Given the description of an element on the screen output the (x, y) to click on. 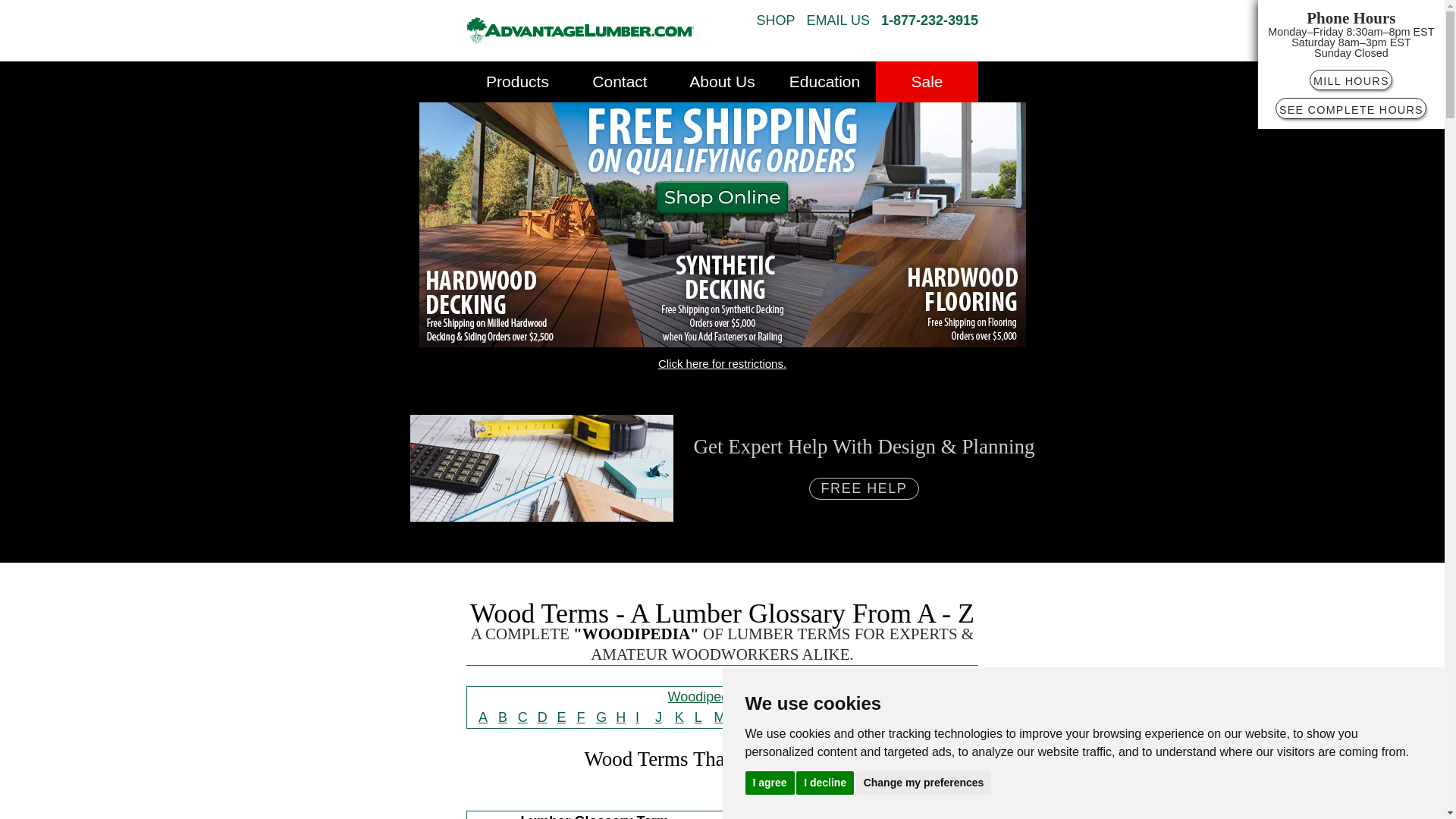
SHOP (775, 20)
1-877-232-3915 (929, 20)
I agree (768, 781)
I decline (824, 781)
Products (517, 81)
Change my preferences (923, 781)
Contact (620, 81)
EMAIL US (837, 20)
About Us (722, 81)
